Given the description of an element on the screen output the (x, y) to click on. 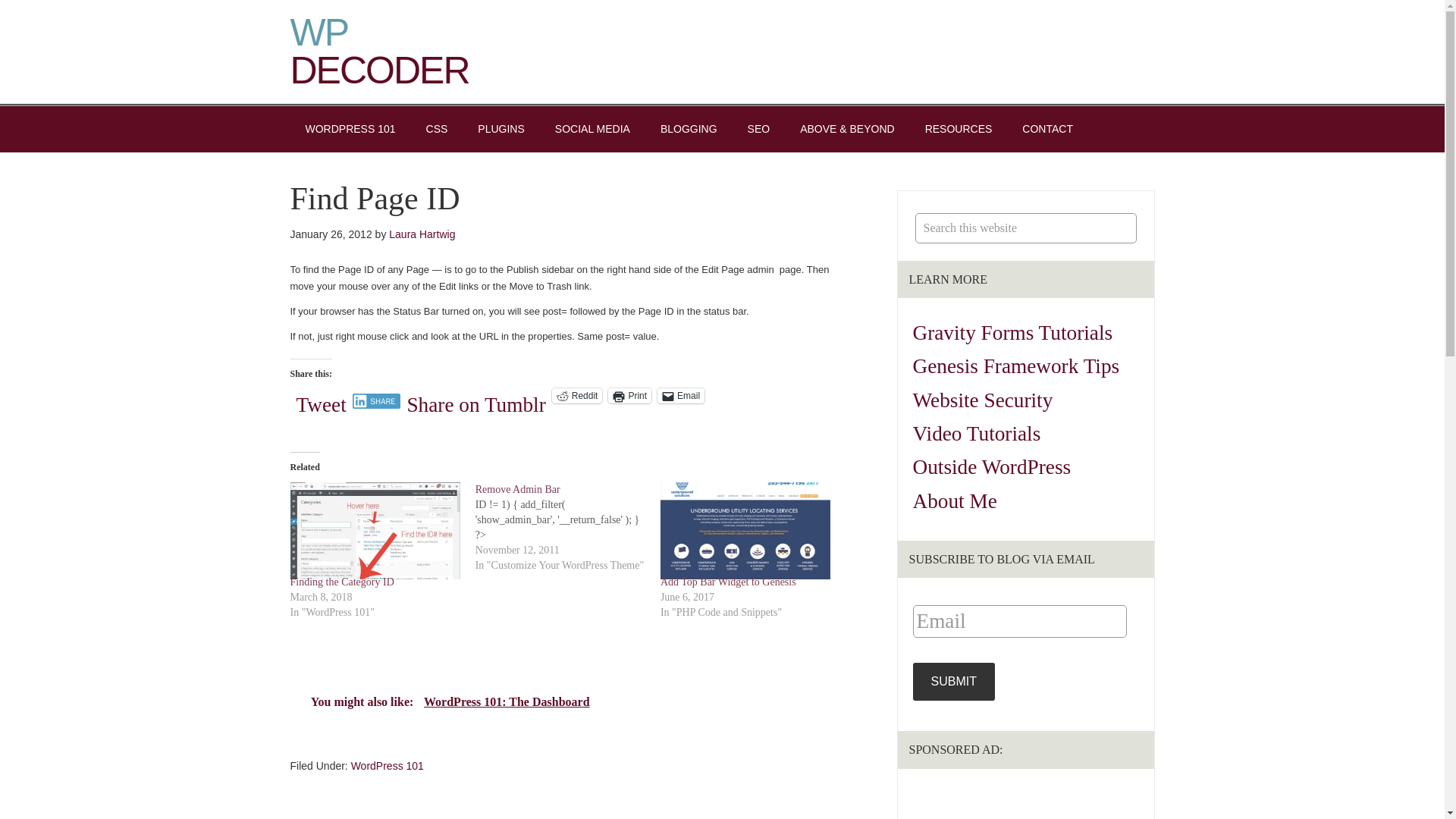
Add Top Bar Widget to Genesis (728, 582)
PLUGINS (500, 129)
Video Tutorials (976, 433)
You might also like:  WordPress 101: The Dashboard (562, 698)
Add Top Bar Widget to Genesis (745, 530)
Tweet (320, 395)
Gravity Forms Tutorials (1012, 332)
SHARE (376, 400)
Click to share on Reddit (576, 395)
Remove Admin Bar (518, 489)
